Given the description of an element on the screen output the (x, y) to click on. 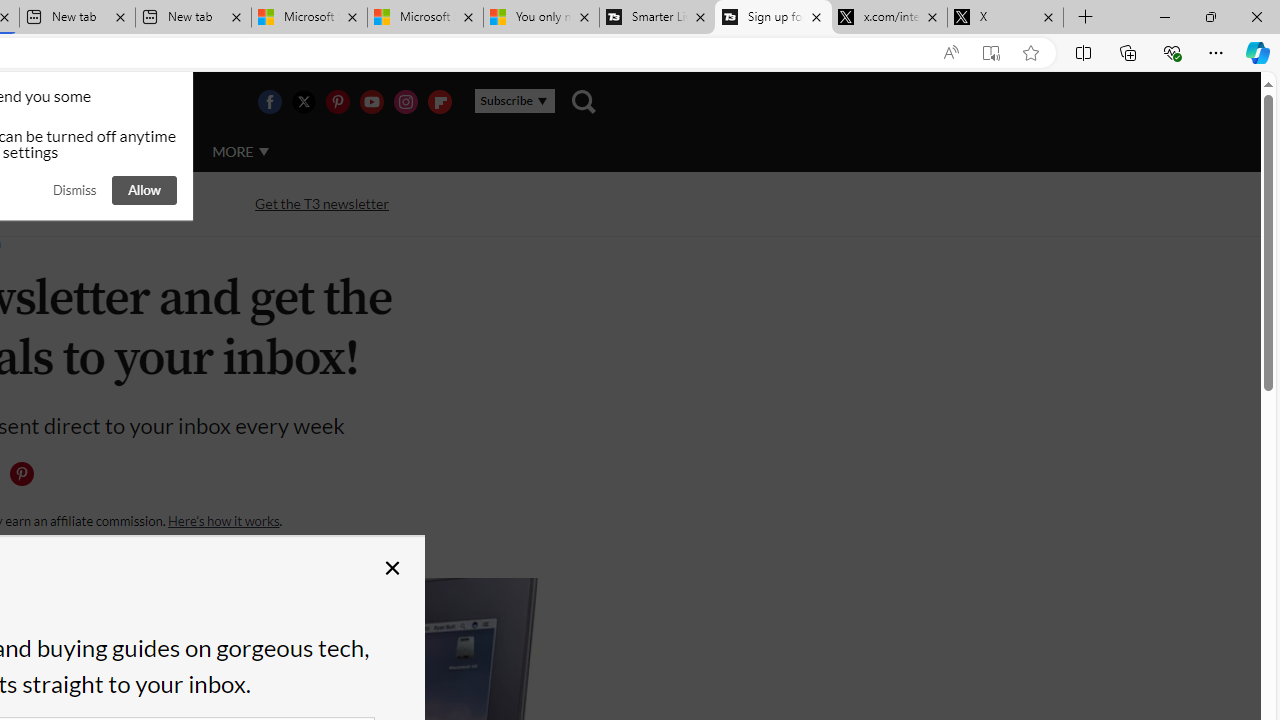
Allow (144, 190)
Visit us on Pintrest (337, 101)
Visit us on Instagram (405, 101)
flag of UK (44, 102)
Smarter Living | T3 (657, 17)
Get the T3 newsletter (322, 204)
Get the T3 newsletter (322, 202)
Class: svg-arrow-down (264, 151)
LUXURY (66, 151)
Class: icon-svg (21, 474)
